Given the description of an element on the screen output the (x, y) to click on. 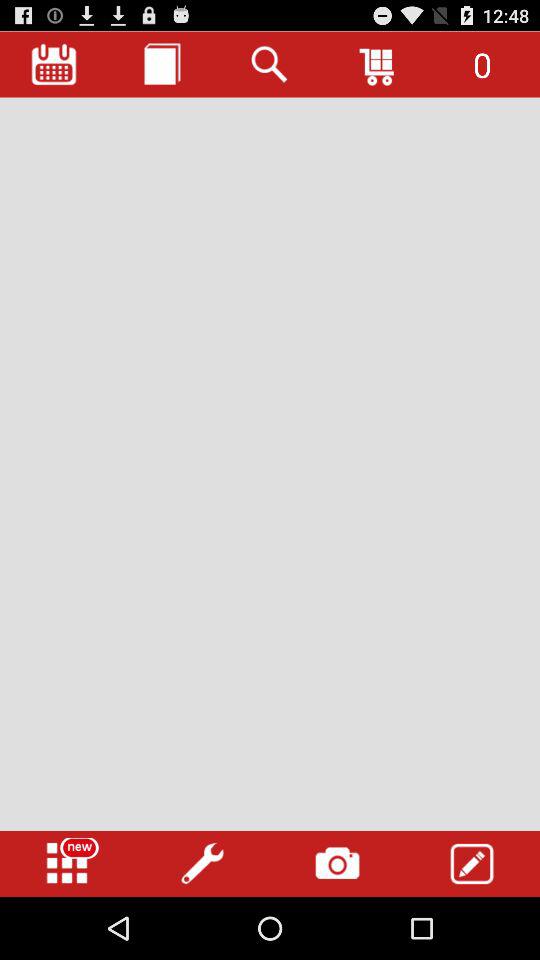
click item at the center (270, 464)
